Given the description of an element on the screen output the (x, y) to click on. 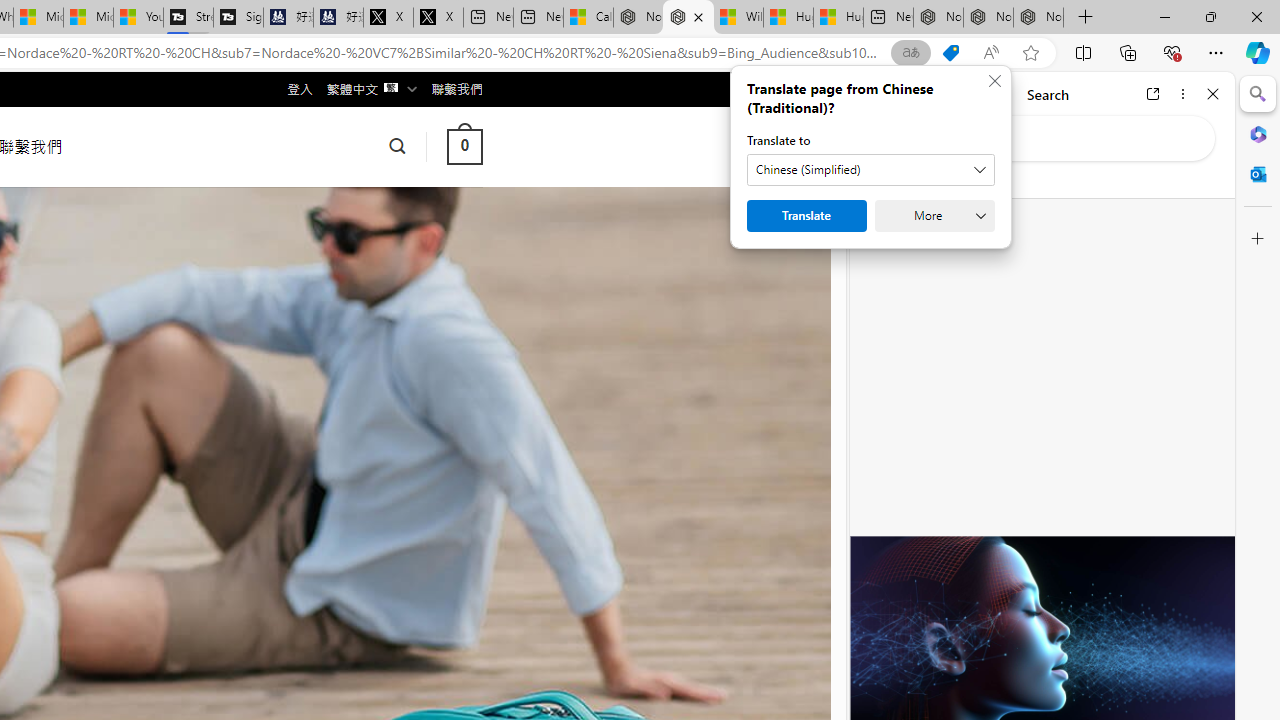
More (934, 215)
Settings and more (Alt+F) (1215, 52)
Minimize (1164, 16)
Nordace Siena Pro 15 Backpack (987, 17)
Add this page to favorites (Ctrl+D) (1030, 53)
Translate (806, 215)
Web scope (882, 180)
More options (1182, 93)
Forward (906, 93)
Restore (1210, 16)
Close tab (697, 16)
Browser essentials (1171, 52)
